Given the description of an element on the screen output the (x, y) to click on. 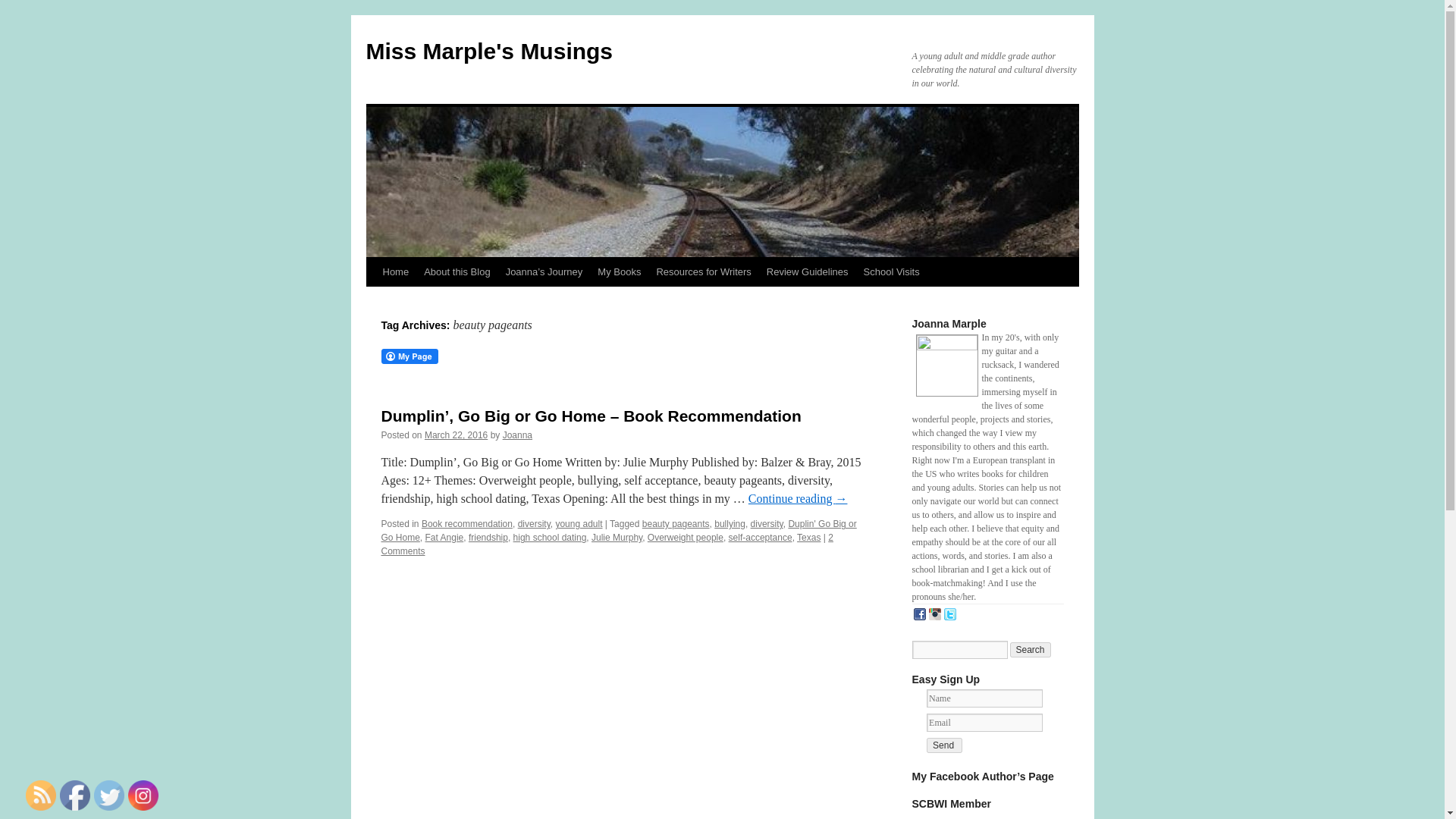
Texas (808, 537)
Julie Murphy (616, 537)
young adult (578, 523)
Twitter (108, 795)
self-acceptance (760, 537)
Book recommendation (467, 523)
beauty pageants (676, 523)
diversity (534, 523)
Overweight people (685, 537)
Review Guidelines (807, 271)
Search (1030, 649)
diversity (767, 523)
2 Comments (606, 544)
RSS (41, 795)
Duplin' Go Big or Go Home (618, 530)
